Given the description of an element on the screen output the (x, y) to click on. 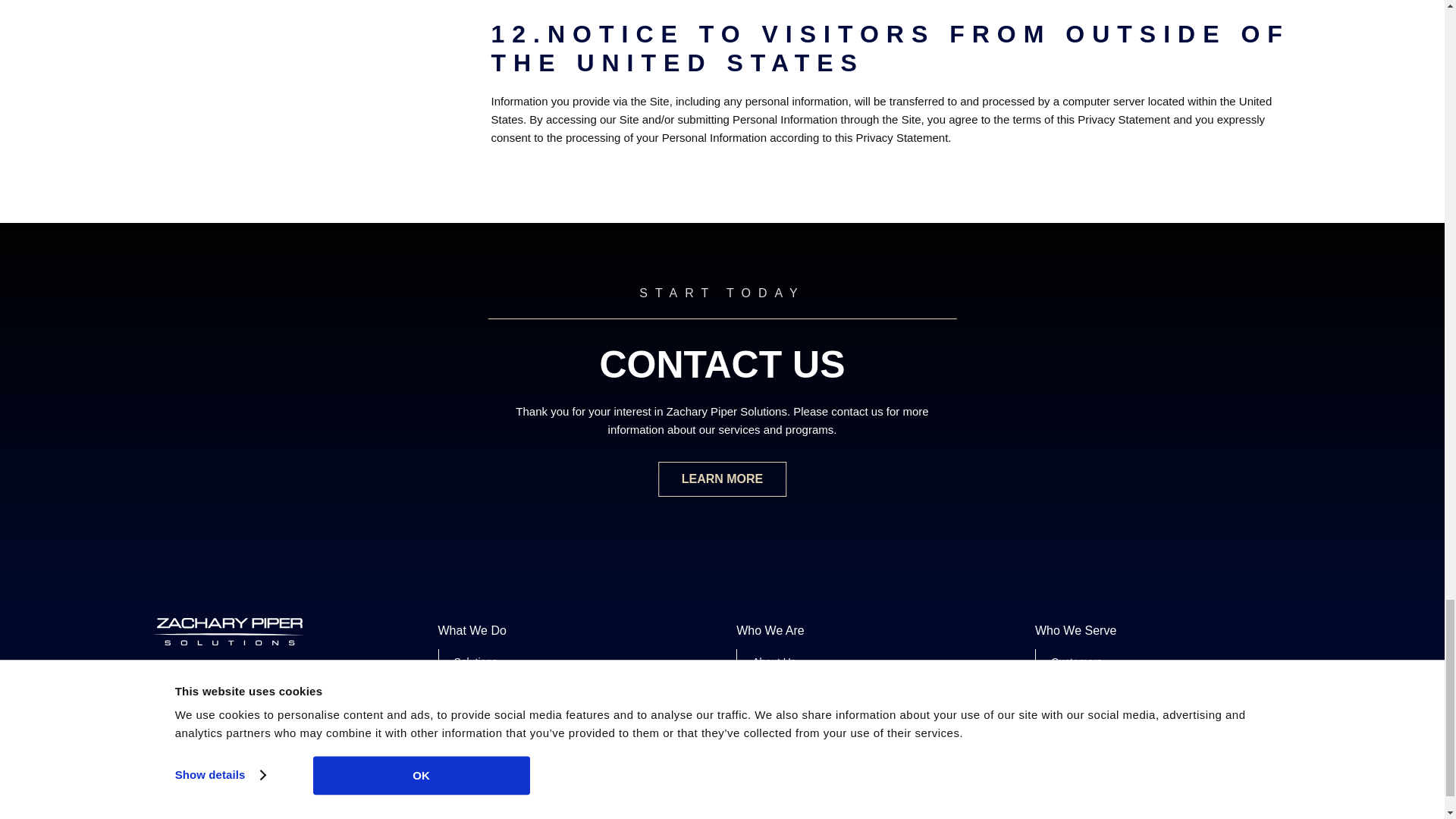
Home (228, 640)
